Given the description of an element on the screen output the (x, y) to click on. 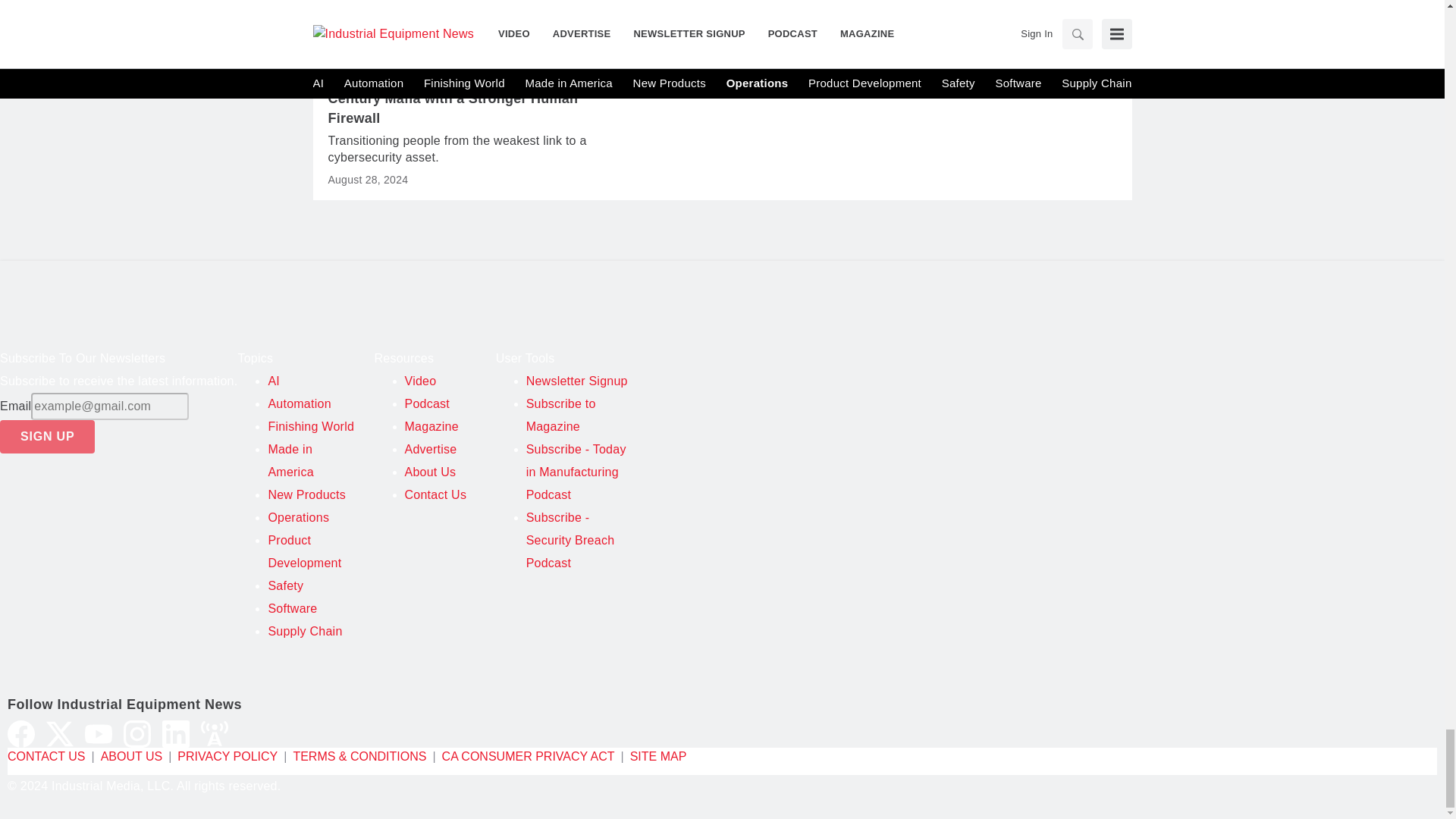
Twitter X icon (60, 733)
Facebook icon (20, 733)
LinkedIn icon (175, 733)
Instagram icon (137, 733)
YouTube icon (98, 733)
